Given the description of an element on the screen output the (x, y) to click on. 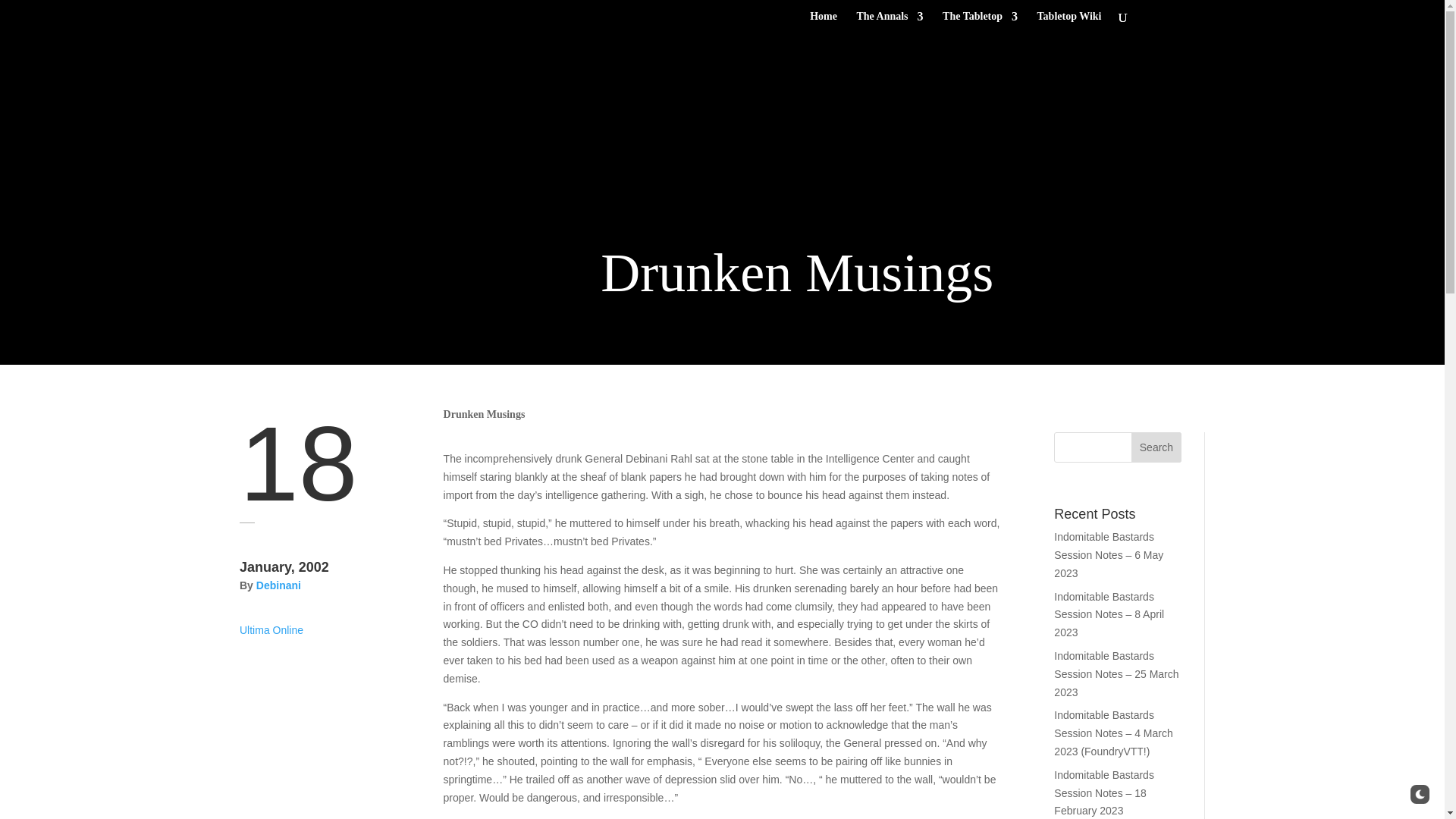
Tabletop Wiki (1069, 22)
Search (1155, 447)
The Tabletop (979, 22)
Home (823, 22)
The Annals (889, 22)
